Given the description of an element on the screen output the (x, y) to click on. 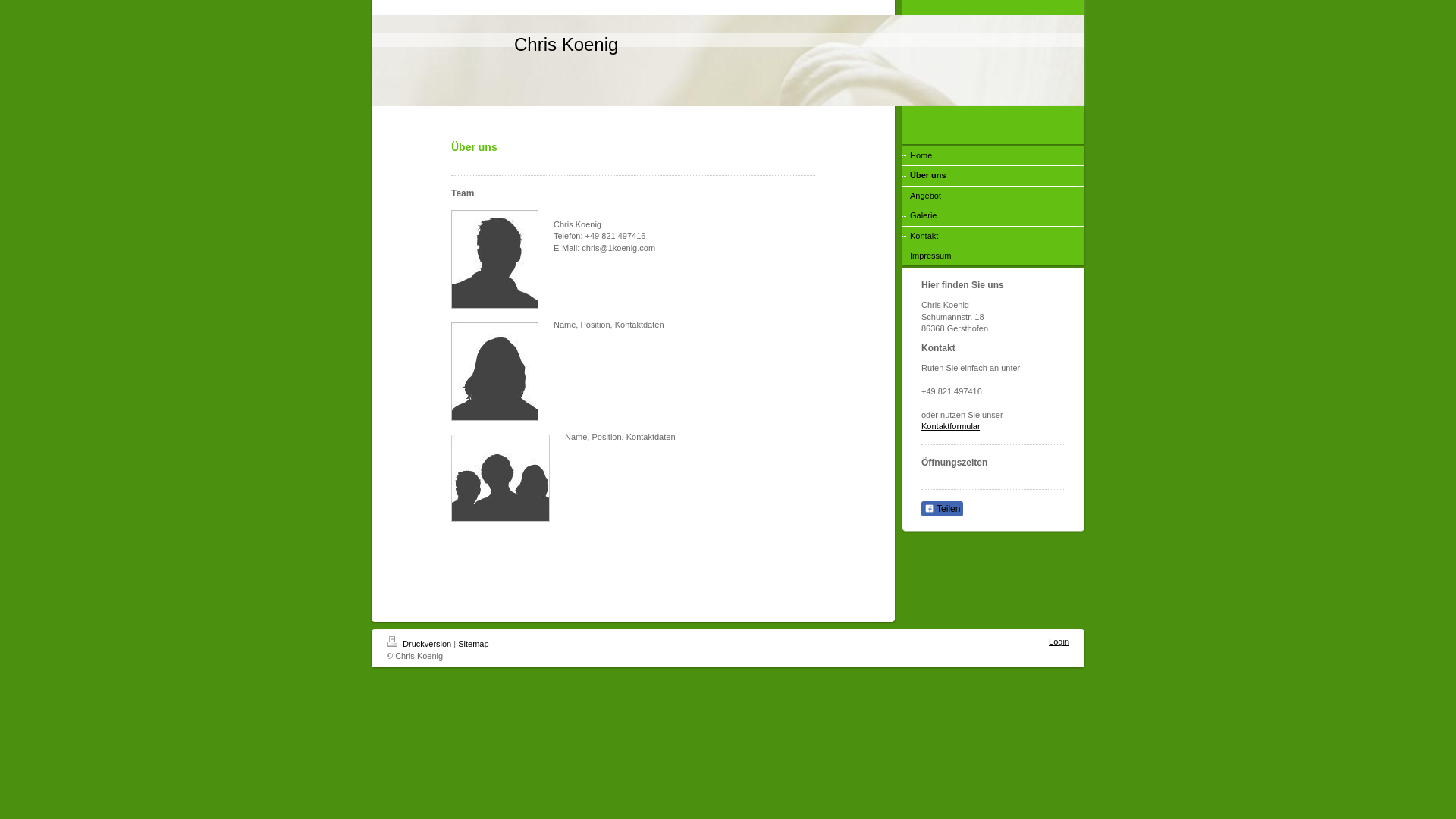
Galerie Element type: text (993, 215)
Impressum Element type: text (993, 255)
Kontaktformular Element type: text (950, 425)
Sitemap Element type: text (473, 643)
Angebot Element type: text (993, 195)
Home Element type: text (993, 155)
Druckversion Element type: text (419, 643)
Teilen Element type: text (942, 508)
Login Element type: text (1058, 641)
Kontakt Element type: text (993, 235)
